Given the description of an element on the screen output the (x, y) to click on. 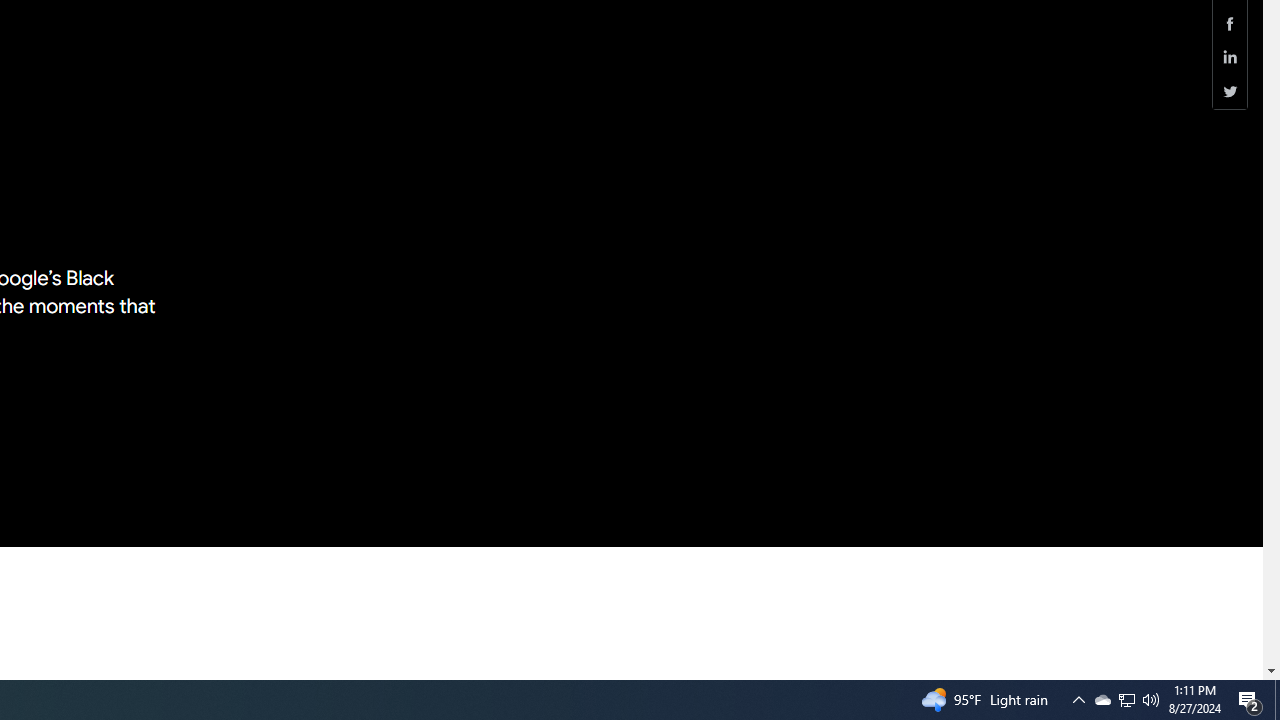
Share this page (Facebook) (1230, 23)
Share this page (LinkedIn) (1230, 57)
Share this page (Twitter) (1230, 91)
